Given the description of an element on the screen output the (x, y) to click on. 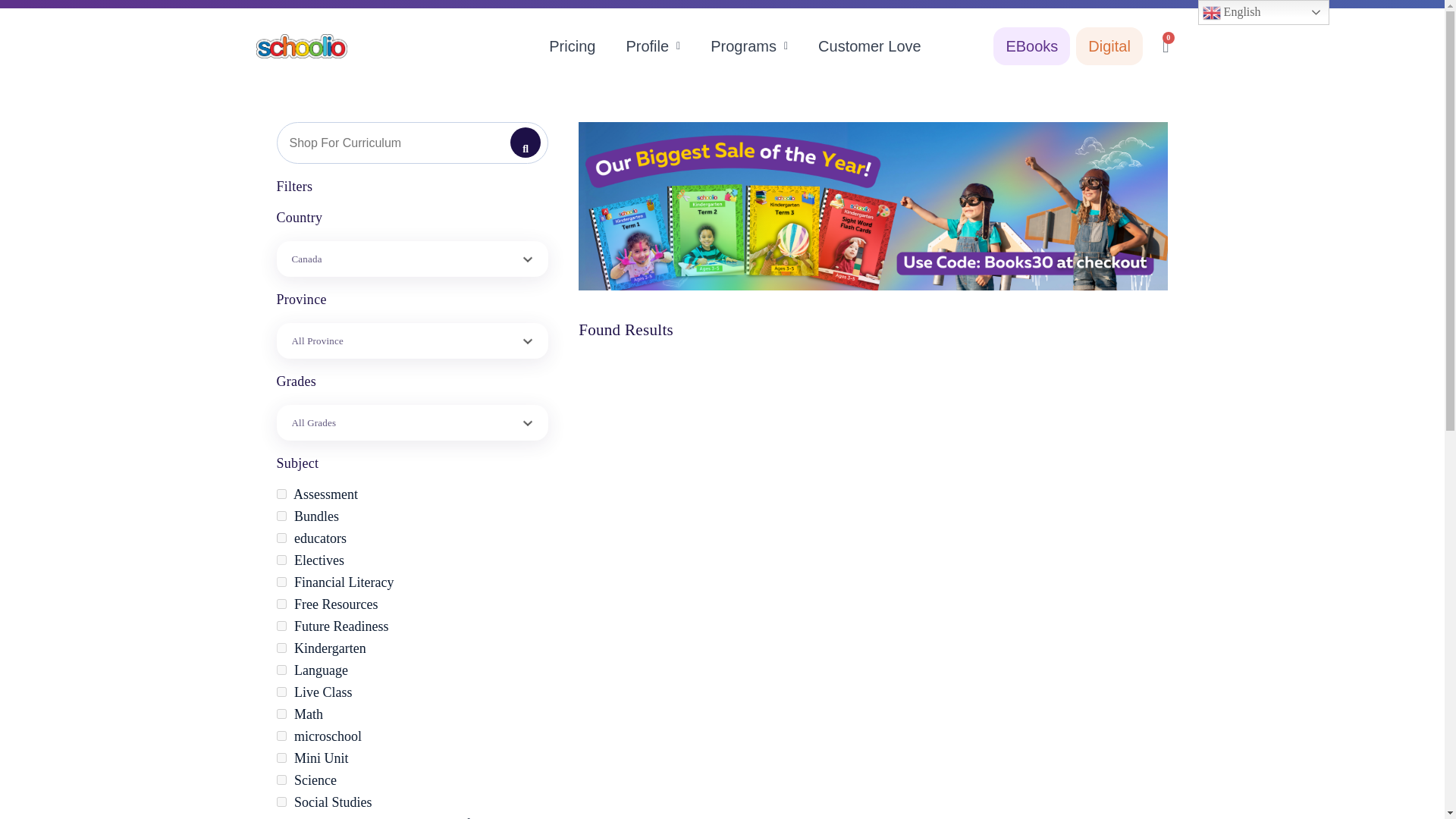
772 (280, 582)
Search (412, 142)
1856 (280, 537)
1144 (280, 625)
Pricing (572, 45)
79 (280, 801)
Profile (652, 45)
1543 (280, 493)
Search (525, 142)
668 (280, 603)
